Given the description of an element on the screen output the (x, y) to click on. 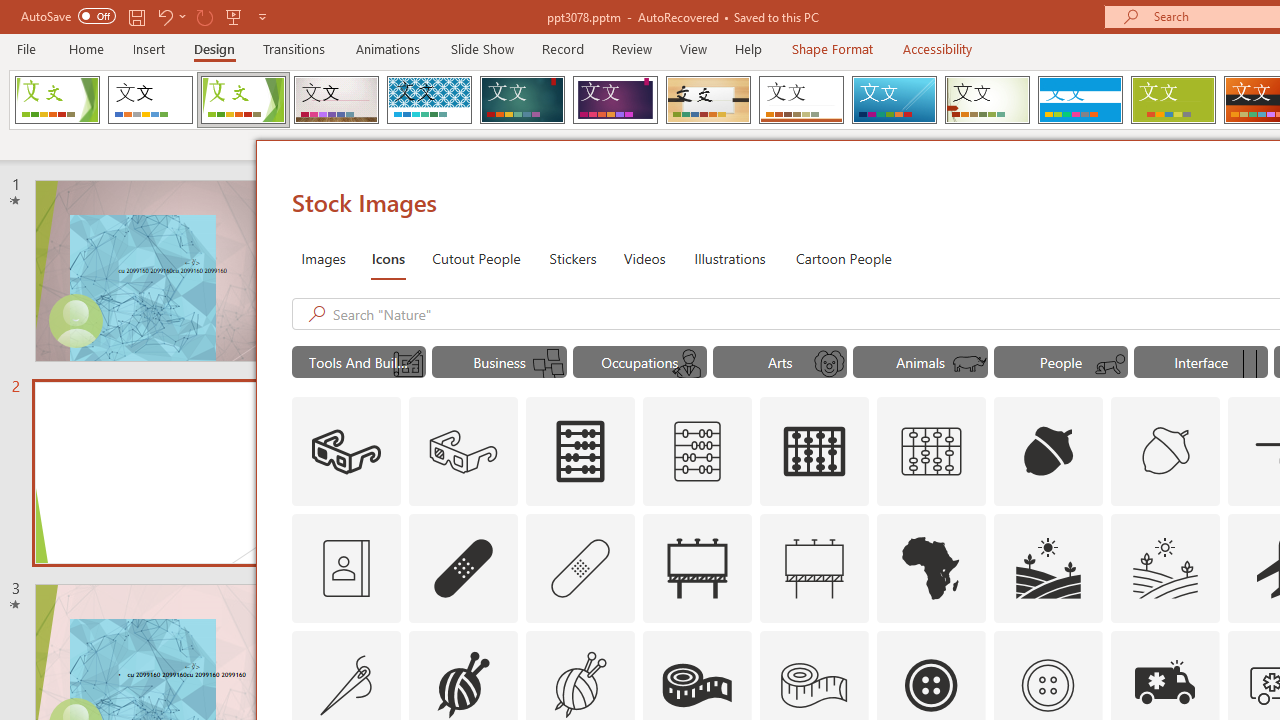
AutomationID: Icons_Agriculture_M (1165, 568)
"People" Icons. (1060, 362)
AutomationID: Icons_Agriculture (1048, 568)
AutomationID: Icons_Abacus_M (697, 452)
Videos (644, 258)
AutomationID: Icons_AdhesiveBandage_M (580, 568)
Ion (522, 100)
AutomationID: Icons_Acorn (1048, 452)
Wisp (987, 100)
